Given the description of an element on the screen output the (x, y) to click on. 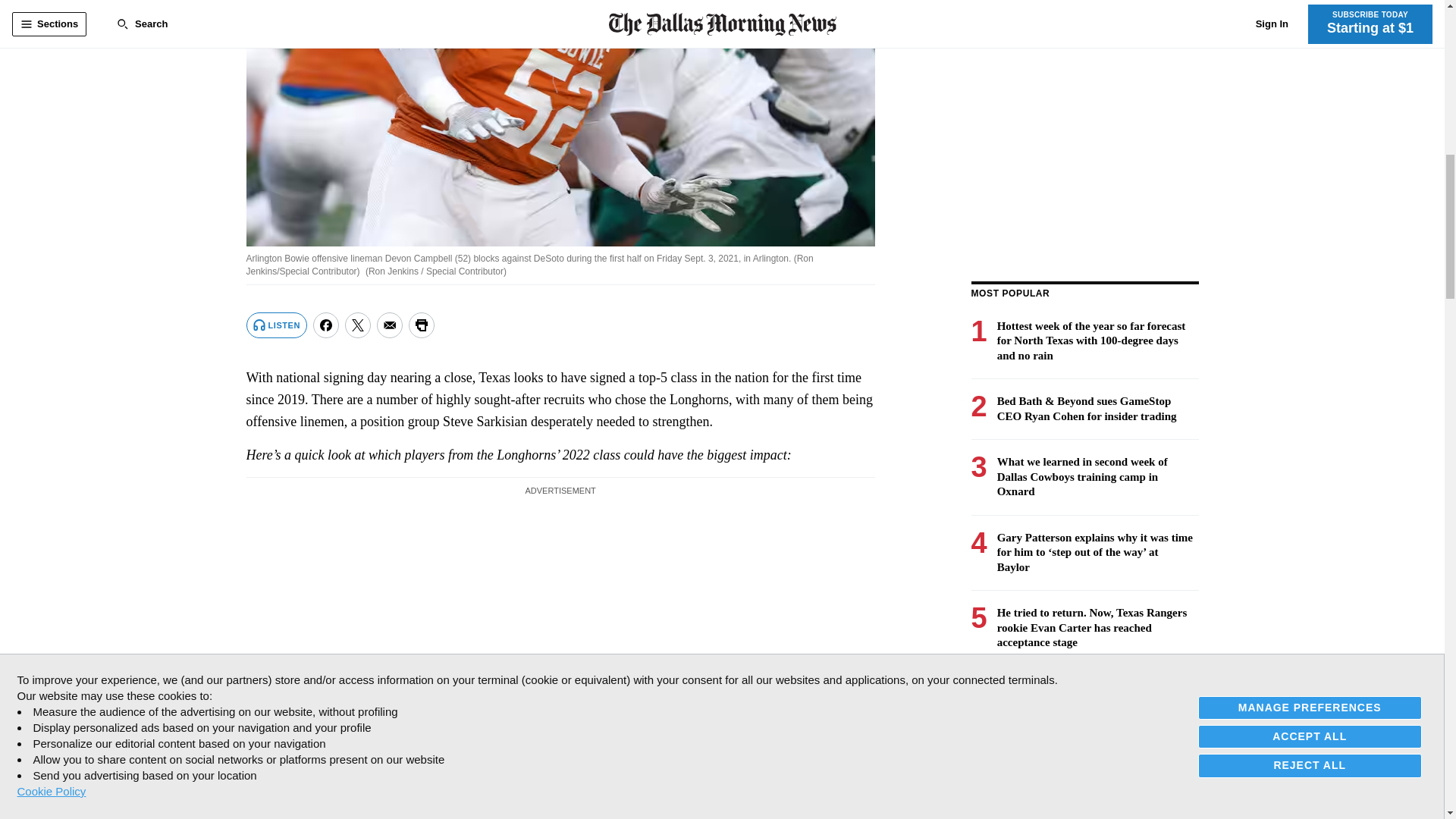
Share via Email (390, 325)
Share on Facebook (326, 325)
Print (421, 325)
Share on Twitter (358, 325)
